Given the description of an element on the screen output the (x, y) to click on. 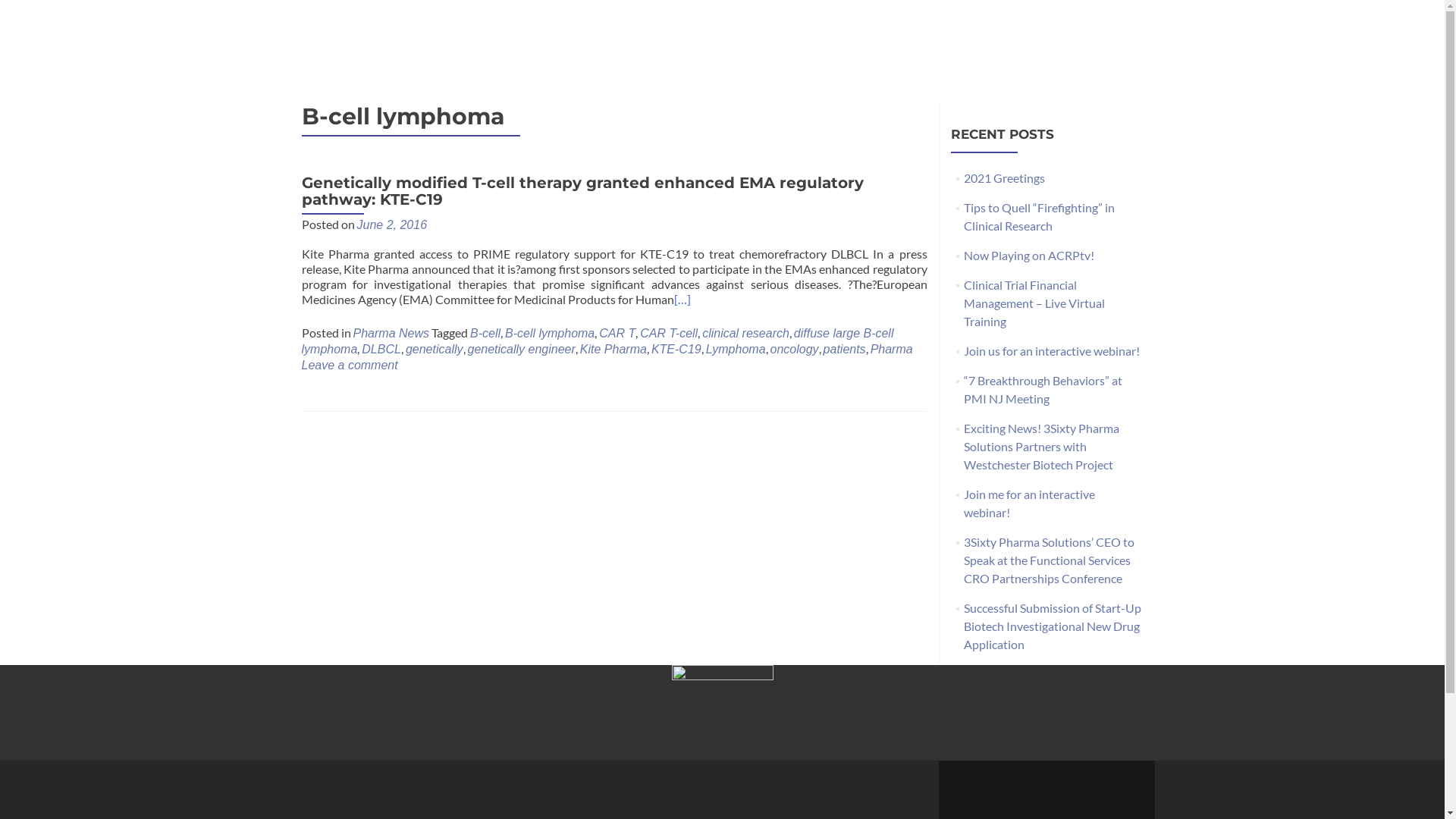
genetically Element type: text (434, 348)
B-cell lymphoma Element type: text (549, 332)
Pharma Element type: text (891, 348)
CAR T Element type: text (617, 332)
KTE-C19 Element type: text (676, 348)
2021 Greetings Element type: text (1003, 177)
Kite Pharma Element type: text (613, 348)
diffuse large B-cell lymphoma Element type: text (597, 340)
genetically engineer Element type: text (520, 348)
Pharma News Element type: text (391, 332)
clinical research Element type: text (745, 332)
B-cell Element type: text (485, 332)
DLBCL Element type: text (381, 348)
Join me for an interactive webinar! Element type: text (1029, 502)
Join us for an interactive webinar! Element type: text (1051, 350)
June 2, 2016 Element type: text (391, 224)
patients Element type: text (844, 348)
Leave a comment Element type: text (349, 364)
Lymphoma Element type: text (735, 348)
oncology Element type: text (794, 348)
Now Playing on ACRPtv! Element type: text (1028, 254)
CAR T-cell Element type: text (668, 332)
